Given the description of an element on the screen output the (x, y) to click on. 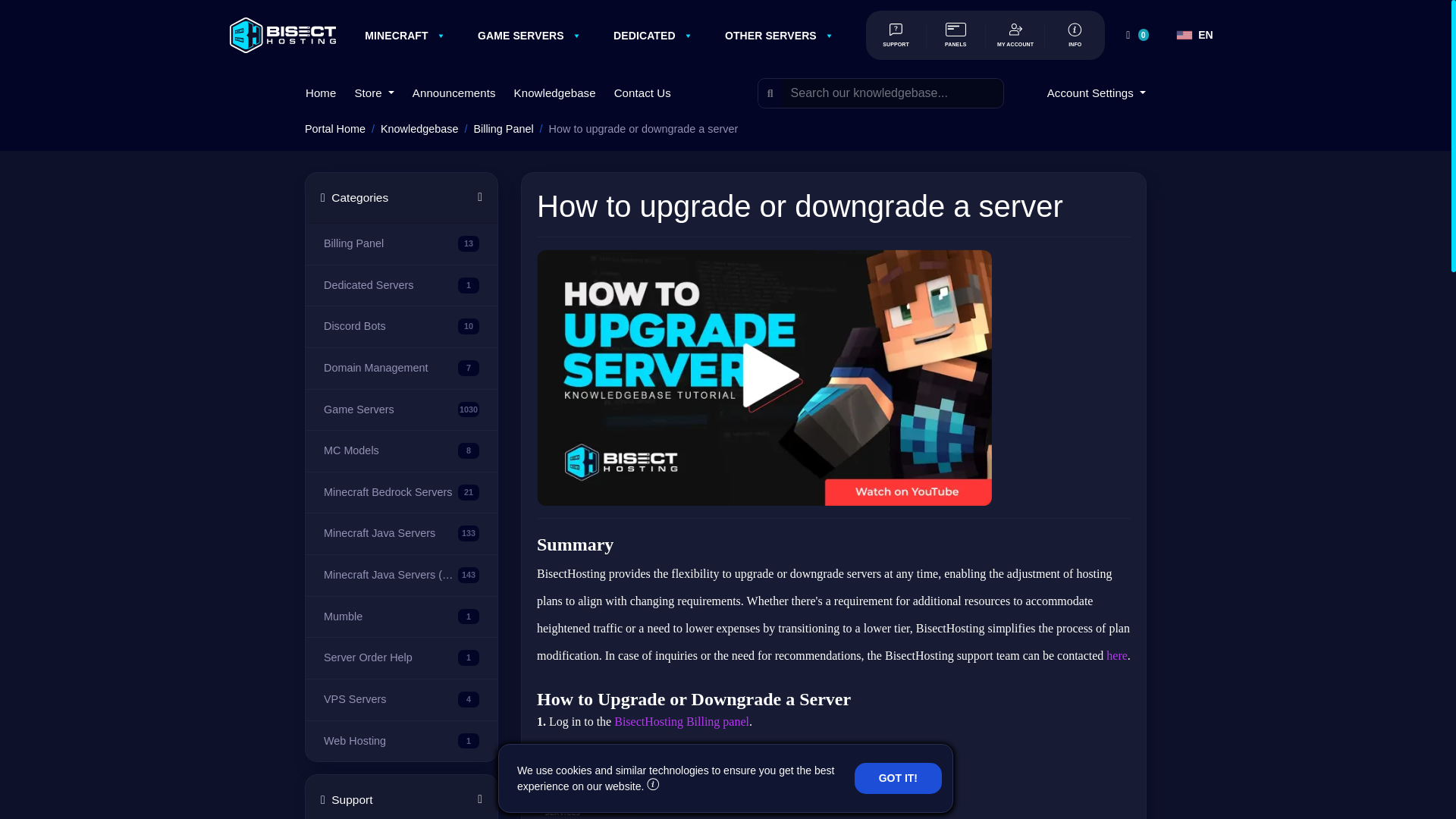
Dedicated Servers (390, 285)
Billing Panel (390, 243)
Mumble (390, 617)
Learn more (652, 786)
MINECRAFT (396, 35)
Minecraft Bedrock Servers (390, 492)
MC Models (390, 451)
Discord Bots (390, 326)
Server Order Help (390, 658)
VPS Servers (390, 699)
